Given the description of an element on the screen output the (x, y) to click on. 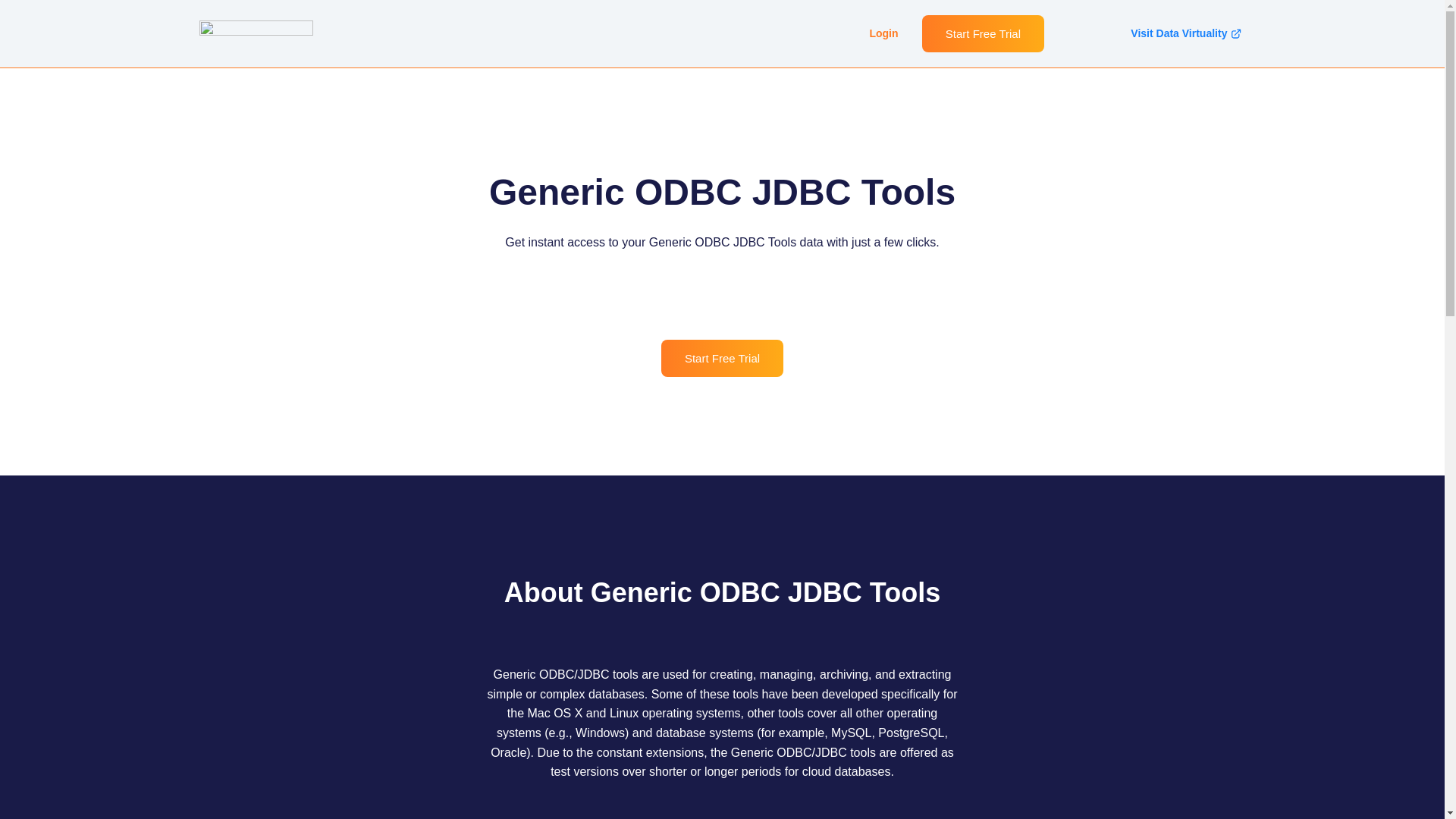
Start Free Trial (722, 357)
Visit Data Virtuality (1185, 34)
Start Free Trial (982, 33)
Login (883, 34)
